Given the description of an element on the screen output the (x, y) to click on. 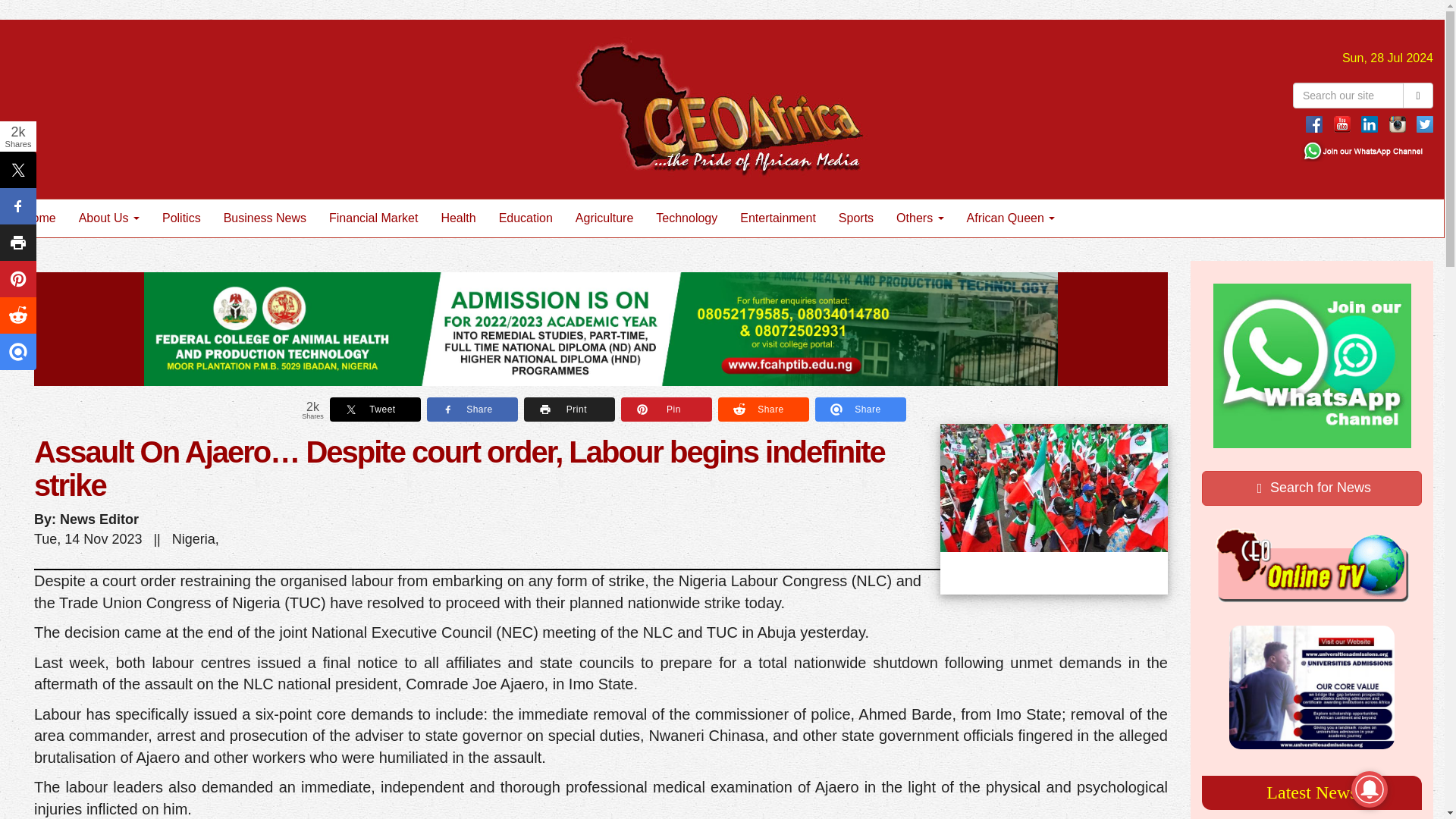
African Queen (1011, 218)
Sports (856, 218)
Business News (264, 218)
Education (525, 218)
Others (920, 218)
Entertainment (778, 218)
Politics (181, 218)
Home (38, 218)
Technology (687, 218)
Agriculture (604, 218)
Health (457, 218)
Financial Market (373, 218)
About Us (108, 218)
